Given the description of an element on the screen output the (x, y) to click on. 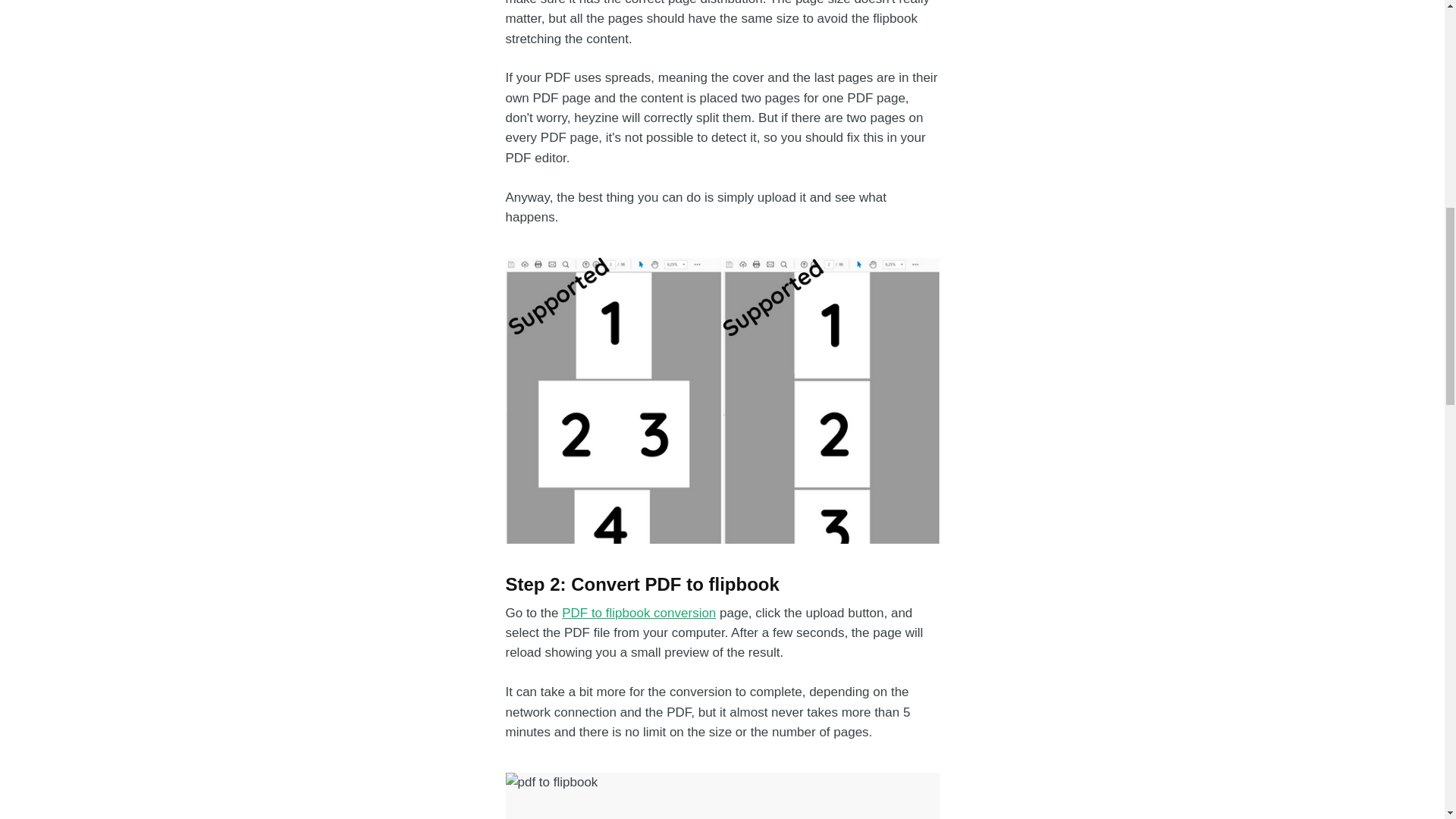
PDF to flipbook conversion (639, 612)
